Given the description of an element on the screen output the (x, y) to click on. 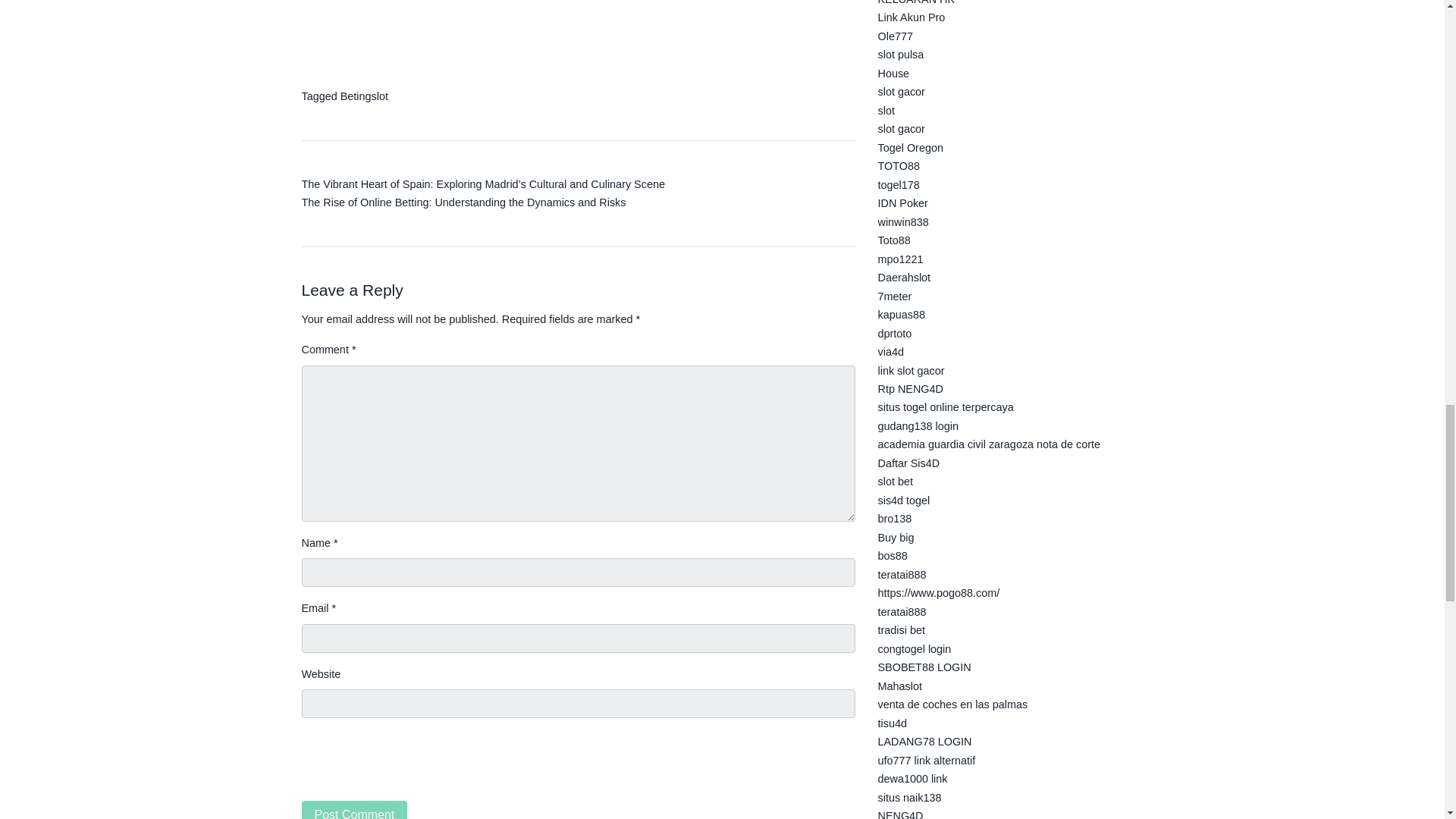
Post Comment (354, 809)
Betingslot (364, 96)
Post Comment (354, 809)
reCAPTCHA (416, 766)
Advertisement (578, 38)
